Given the description of an element on the screen output the (x, y) to click on. 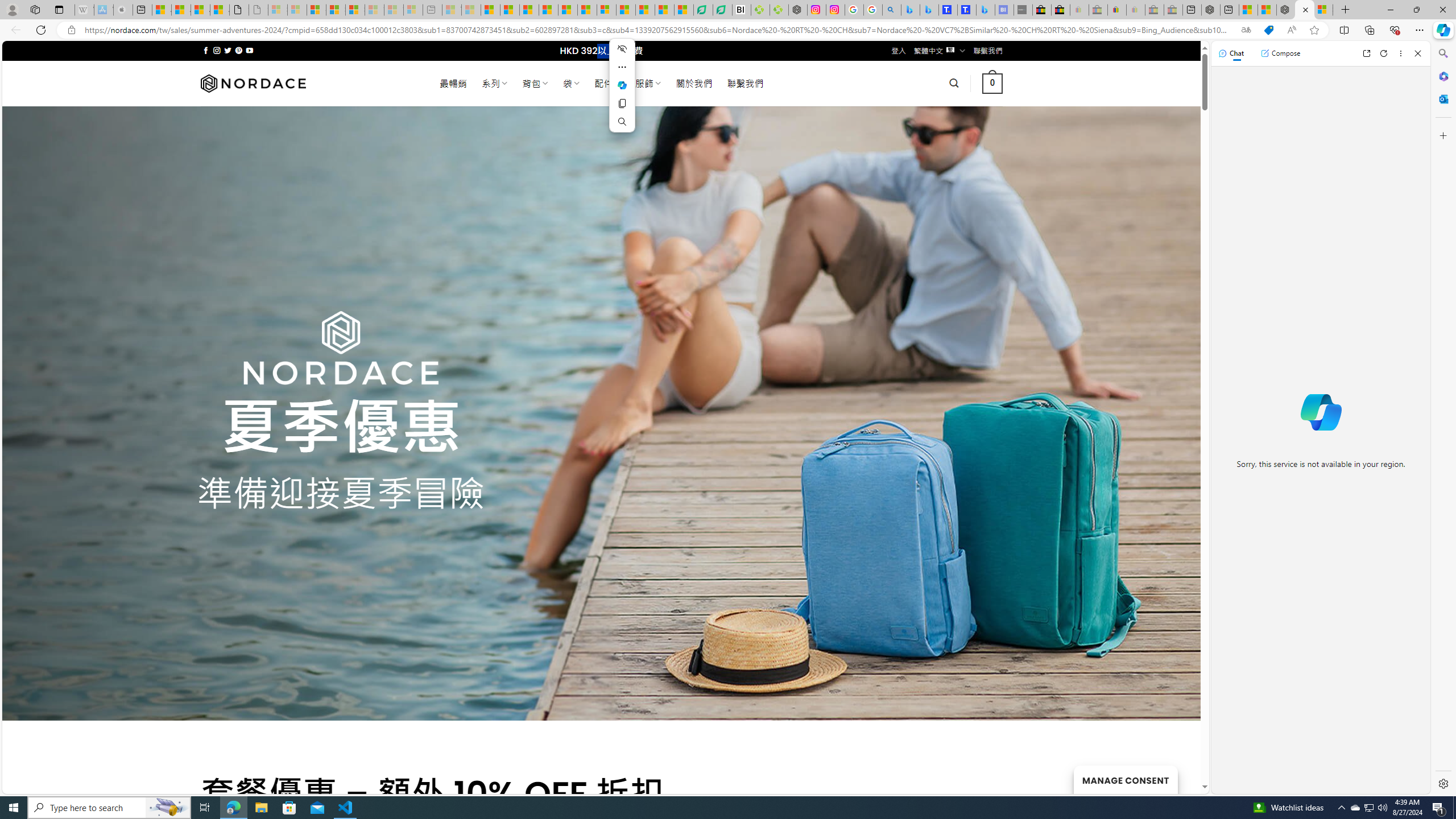
Open link in new tab (1366, 53)
New tab - Sleeping (431, 9)
Nordace - Nordace Edin Collection (797, 9)
Microsoft Bing Travel - Shangri-La Hotel Bangkok (985, 9)
  0   (992, 83)
Wikipedia - Sleeping (84, 9)
